Given the description of an element on the screen output the (x, y) to click on. 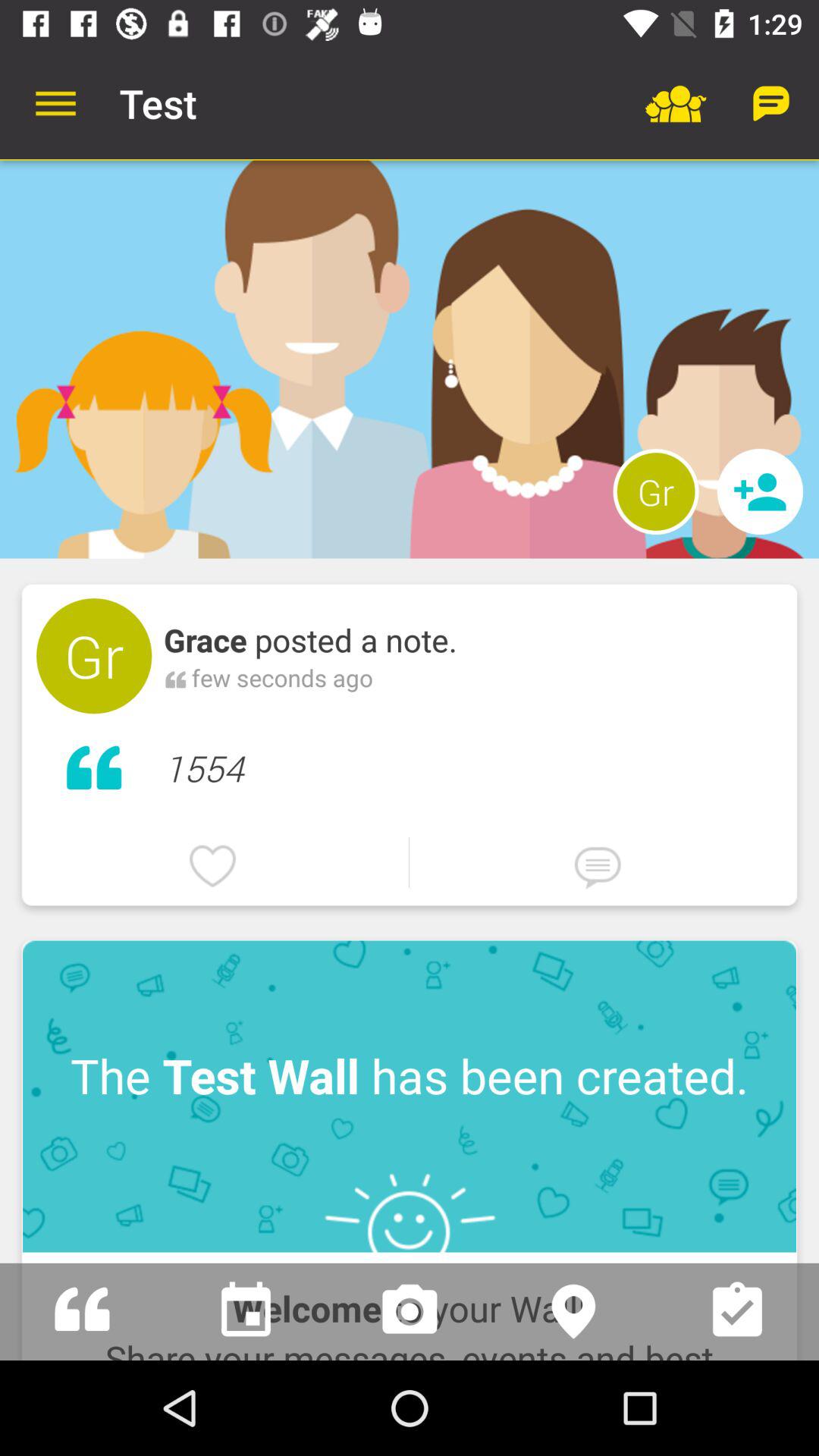
post a note (81, 1311)
